Given the description of an element on the screen output the (x, y) to click on. 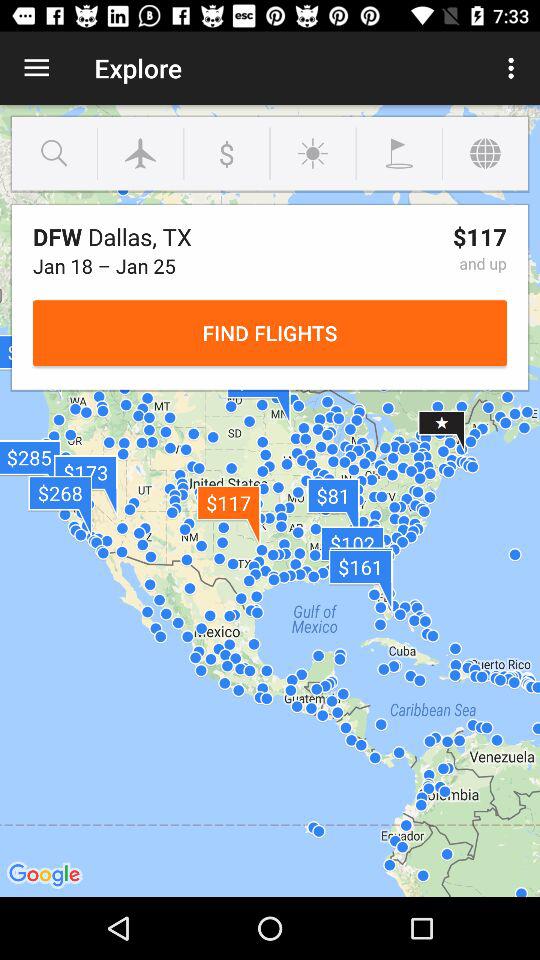
open icon to the left of the explore icon (36, 68)
